Given the description of an element on the screen output the (x, y) to click on. 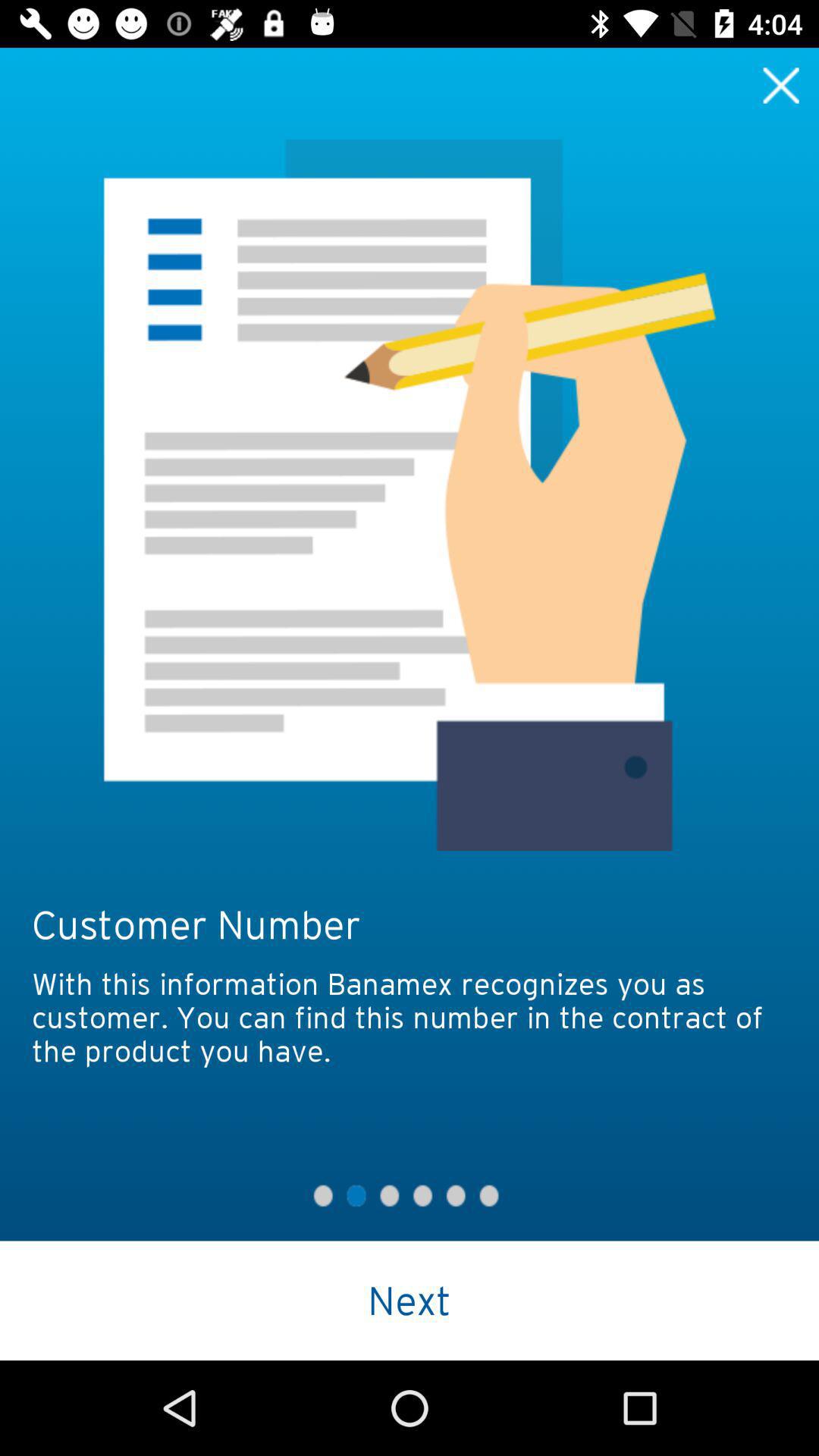
exit button (781, 85)
